Given the description of an element on the screen output the (x, y) to click on. 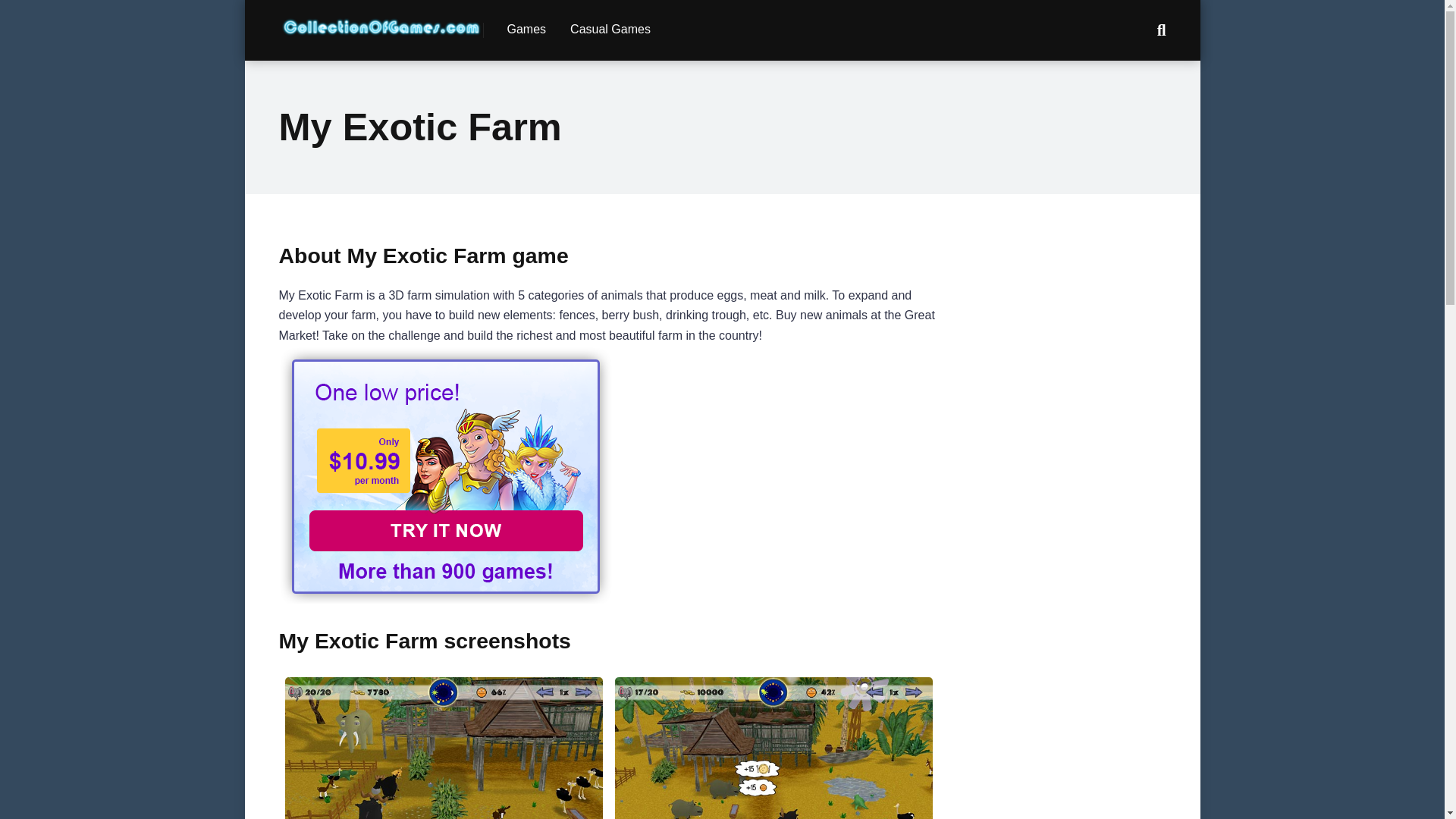
More than 900 casual games! (445, 599)
CollectionOFGames (381, 21)
Casual Games (609, 30)
Games (526, 30)
